Given the description of an element on the screen output the (x, y) to click on. 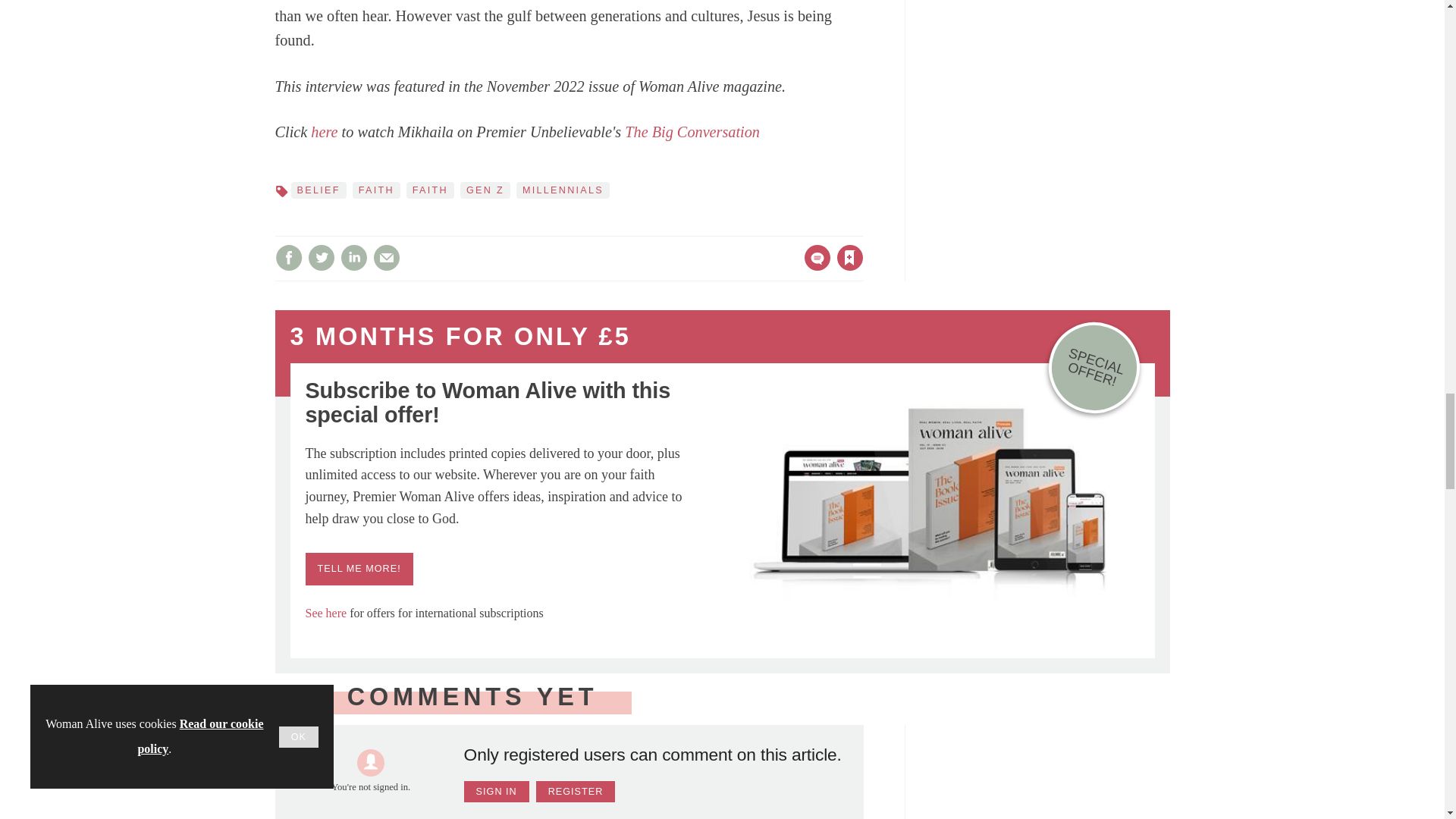
Share this on Twitter (320, 257)
Email this article (386, 257)
Share this on Facebook (288, 257)
No comments (812, 266)
Share this on Linked in (352, 257)
